Given the description of an element on the screen output the (x, y) to click on. 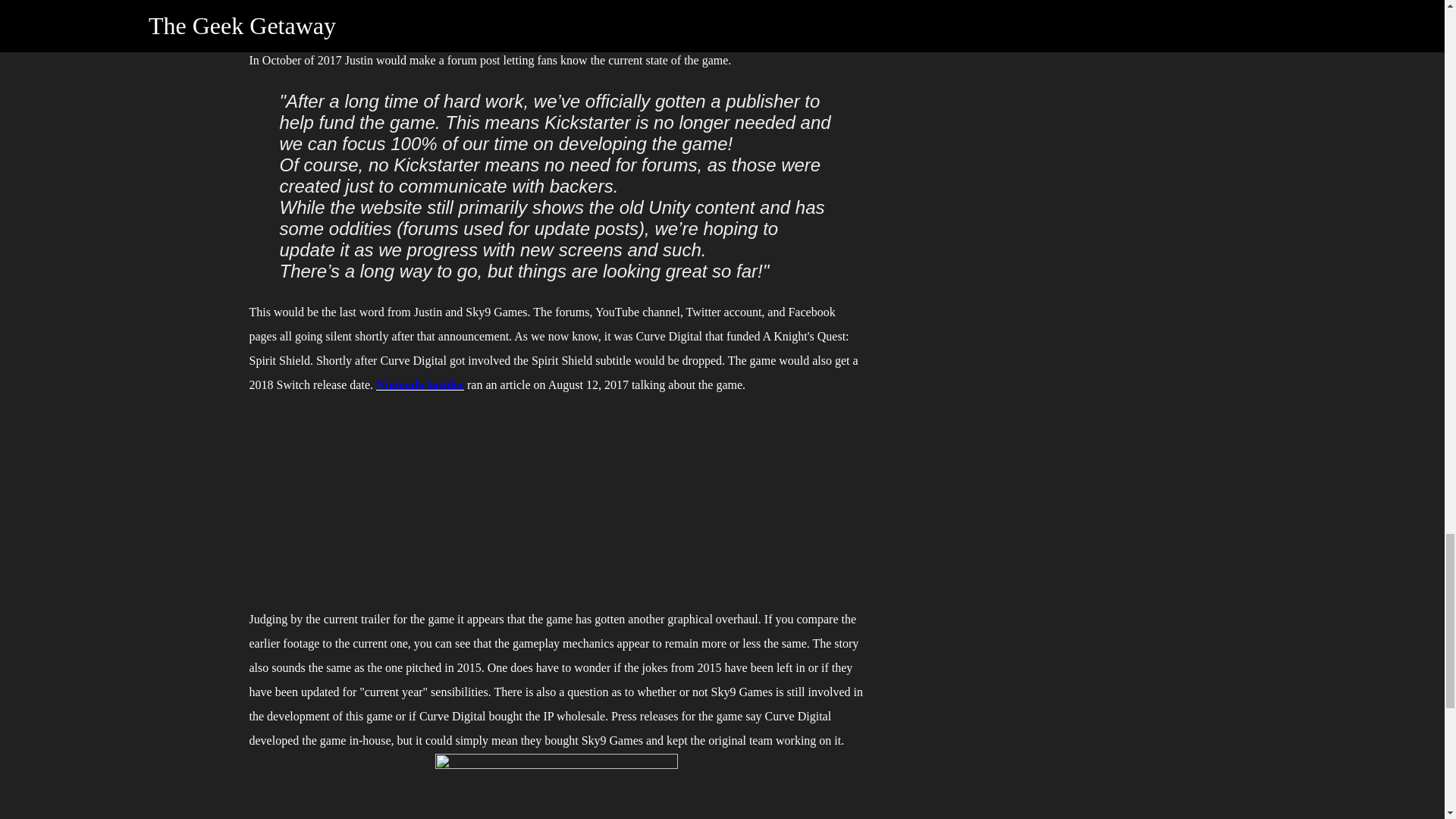
Nintendo Insider (419, 384)
